Given the description of an element on the screen output the (x, y) to click on. 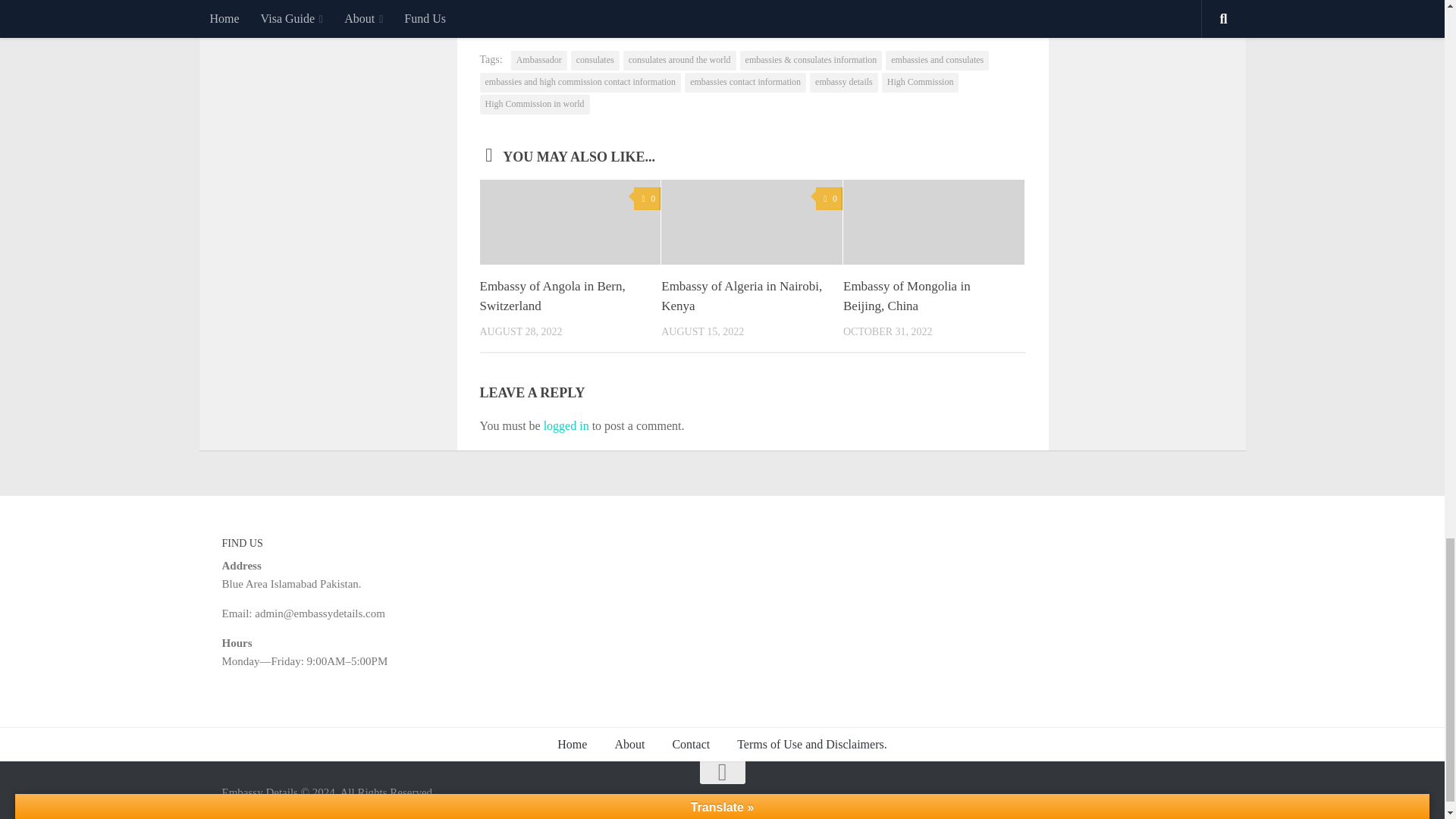
consulates (595, 60)
consulates around the world (679, 60)
Ambassador (539, 60)
